Given the description of an element on the screen output the (x, y) to click on. 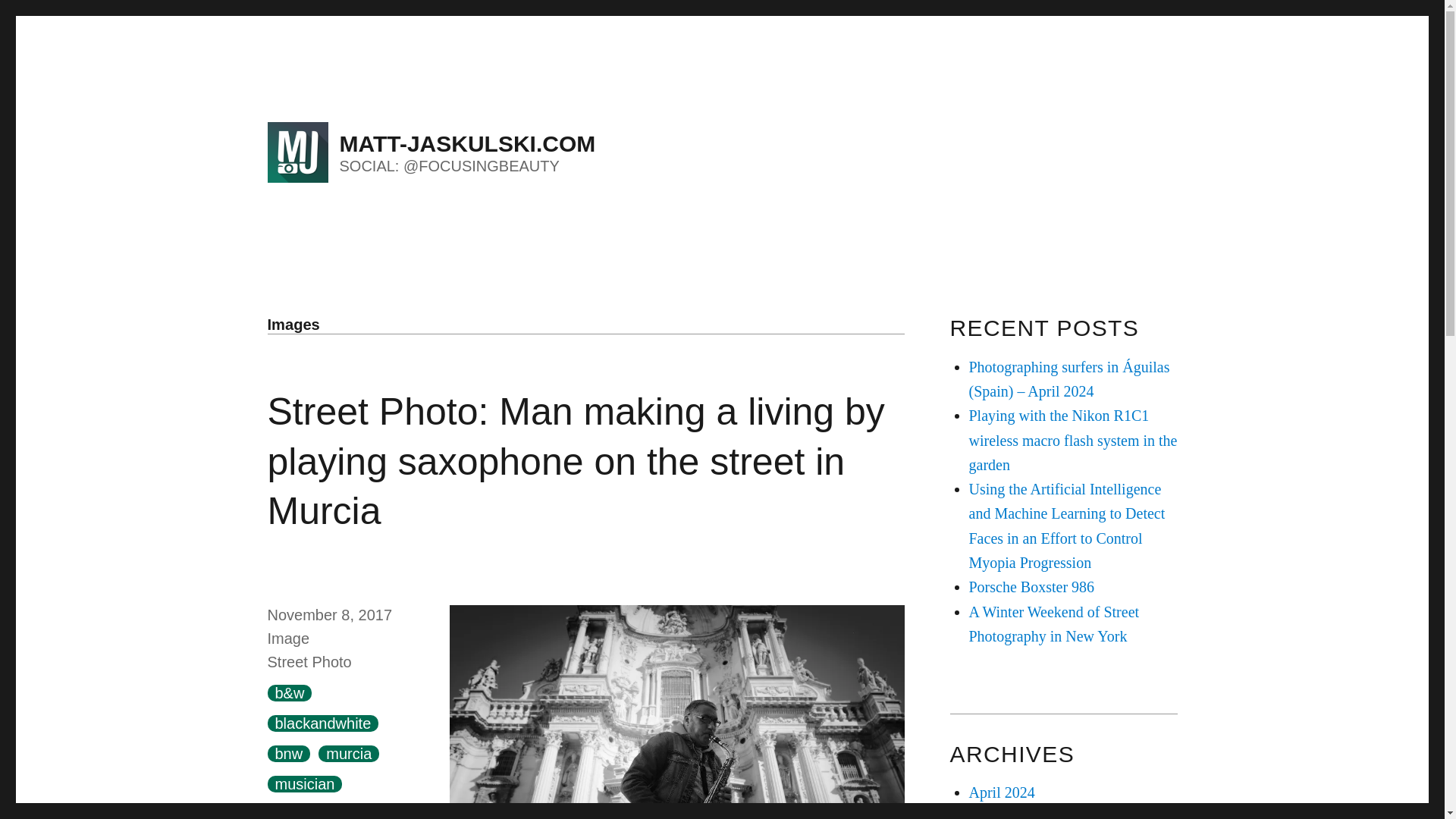
April 2024 (1002, 791)
nikkor (293, 812)
Image (287, 638)
blackandwhite (322, 723)
musician (304, 783)
Nikon (358, 812)
November 8, 2017 (328, 614)
A Winter Weekend of Street Photography in New York (1054, 623)
March 2018 (1005, 813)
